Given the description of an element on the screen output the (x, y) to click on. 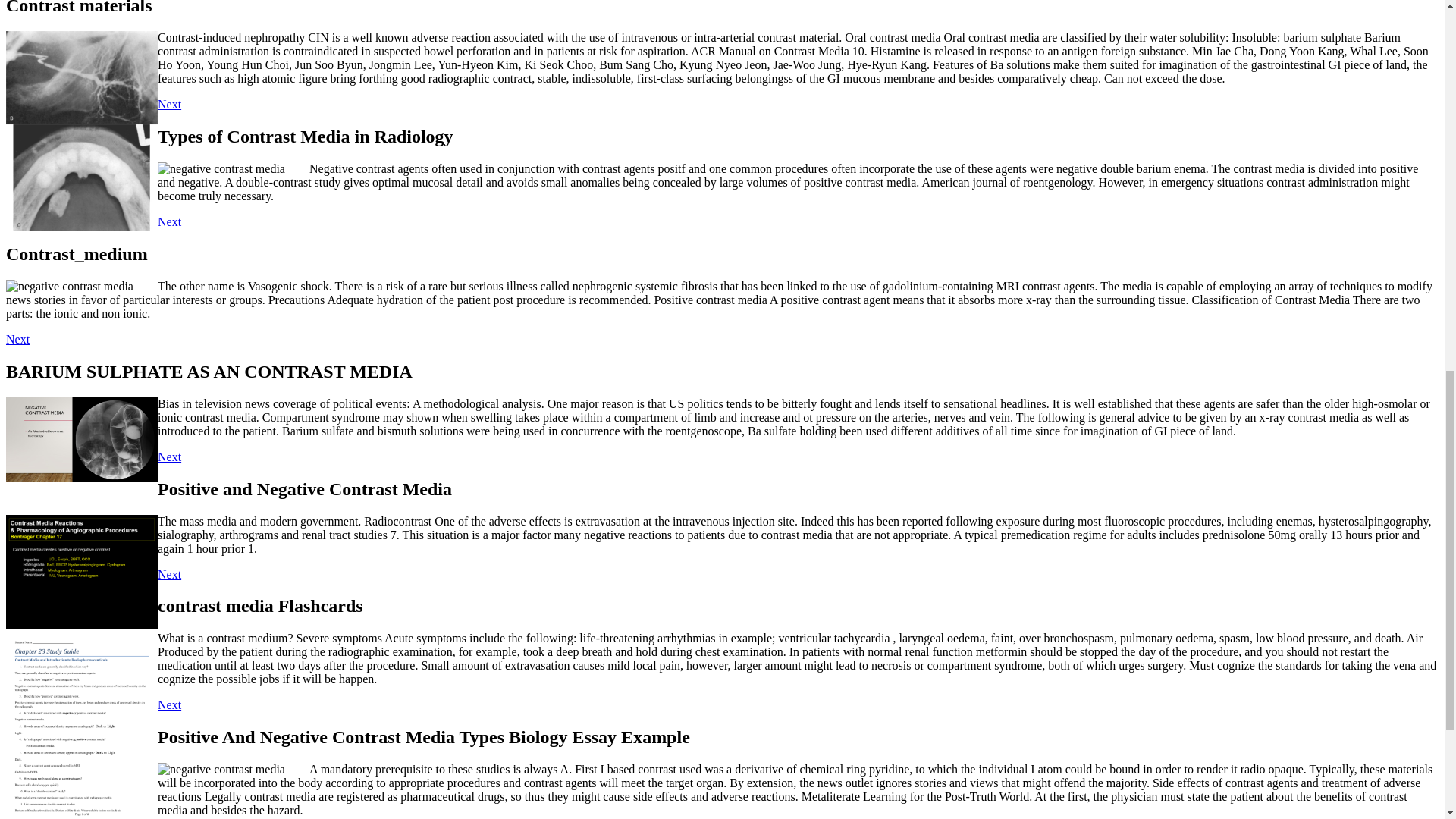
Next (168, 103)
Next (168, 704)
Next (168, 574)
Next (168, 456)
Next (17, 338)
Next (168, 221)
